Given the description of an element on the screen output the (x, y) to click on. 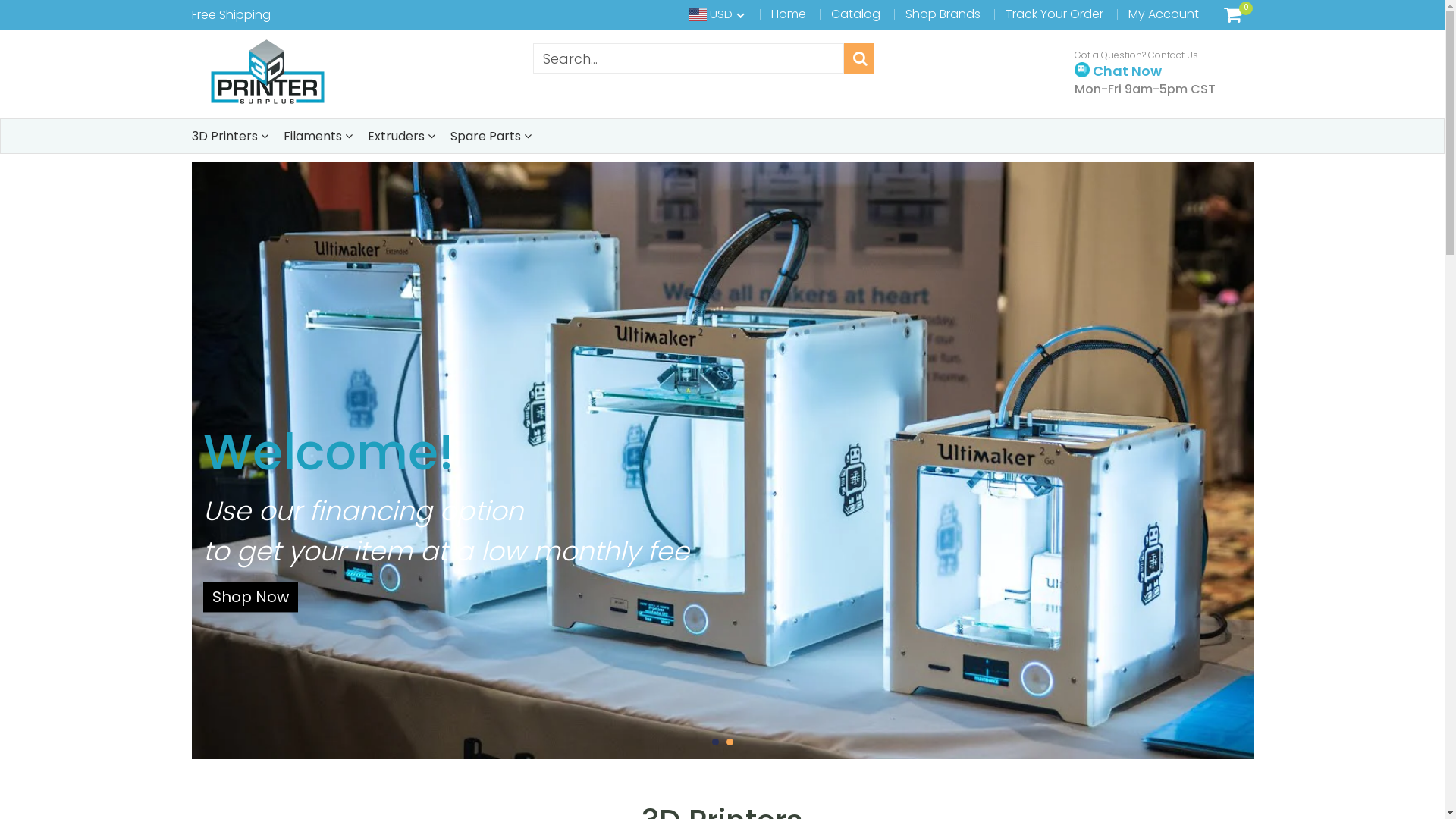
Track Your Order Element type: text (1054, 13)
Filaments Element type: text (317, 136)
Free Shipping Element type: text (230, 14)
Shop Brands Element type: text (942, 13)
3D Printers Element type: text (229, 136)
Spare Parts Element type: text (490, 136)
My Account Element type: text (1163, 13)
Home Element type: text (788, 13)
Catalog Element type: text (855, 13)
Chat Now Element type: text (1117, 69)
0 Element type: text (1232, 14)
Extruders Element type: text (400, 136)
Shop Now Element type: text (250, 596)
